Given the description of an element on the screen output the (x, y) to click on. 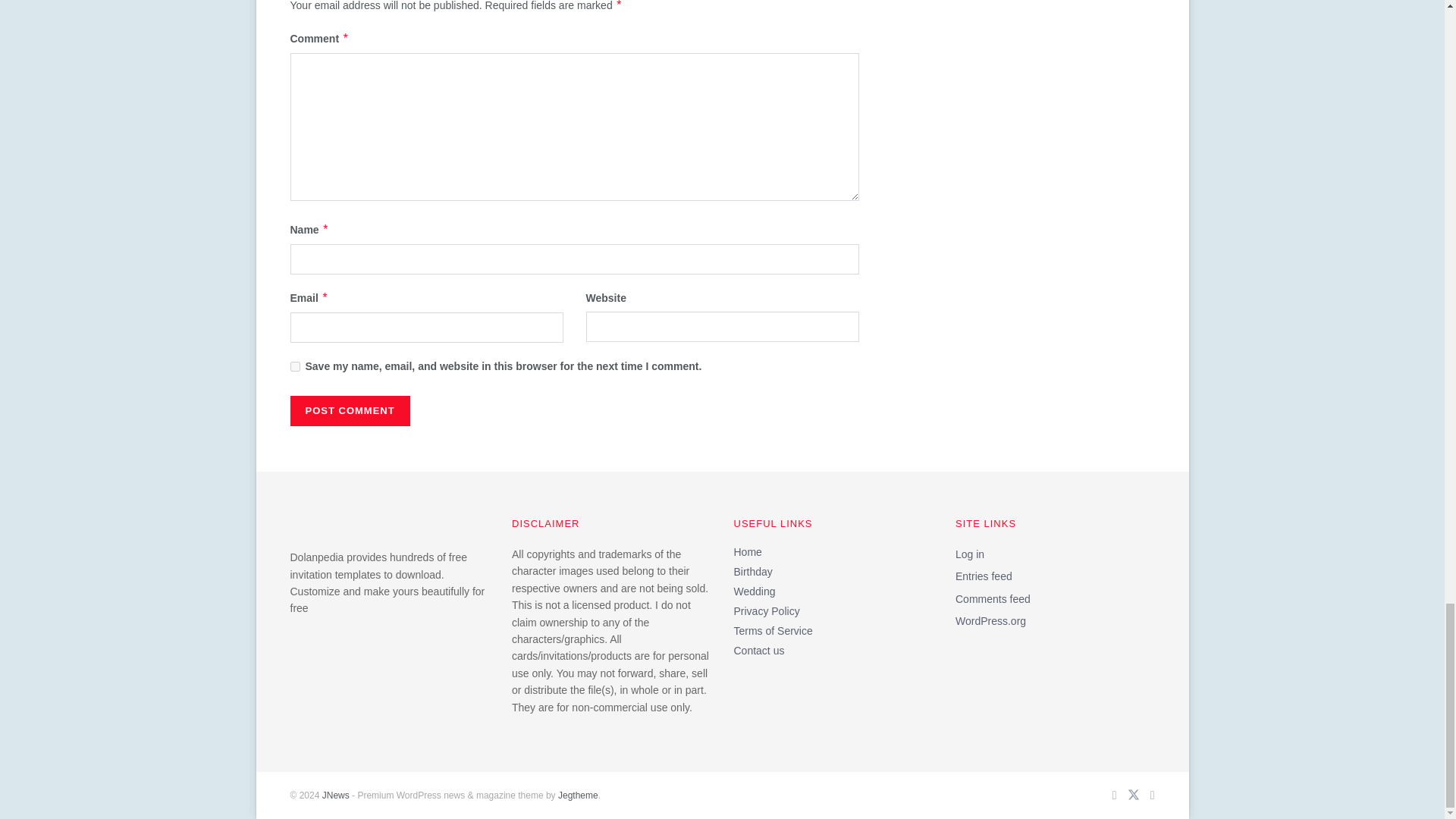
Post Comment (349, 410)
Jegtheme (577, 795)
yes (294, 366)
Post Comment (349, 410)
